Given the description of an element on the screen output the (x, y) to click on. 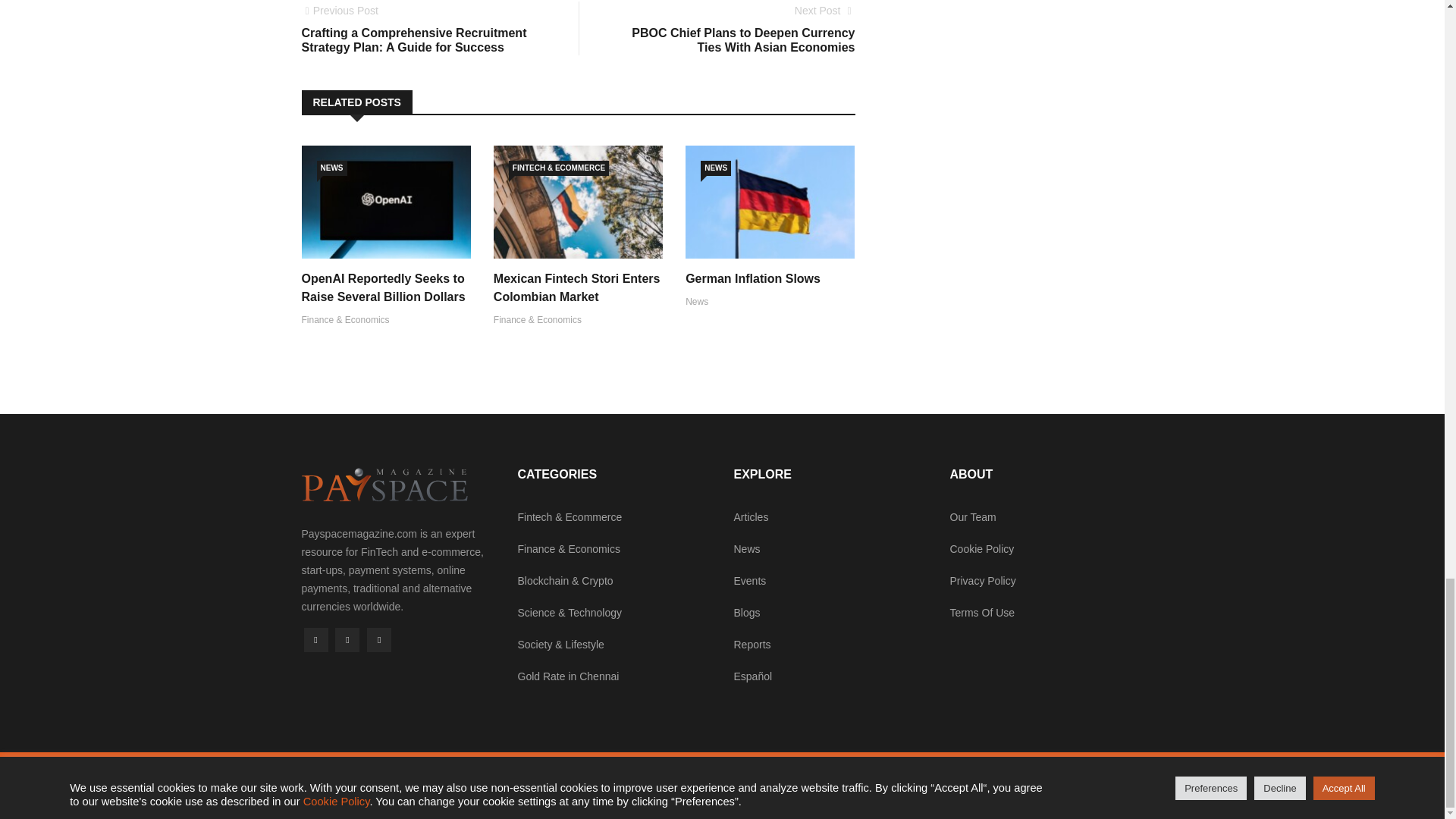
OpenAI Reportedly Seeks to Raise Several Billion Dollars (383, 286)
NEWS (332, 168)
German Inflation Slows (753, 277)
NEWS (715, 168)
Facebook (314, 639)
Mexican Fintech Stori Enters Colombian Market (577, 286)
Twitter (346, 639)
RSS (378, 639)
